Given the description of an element on the screen output the (x, y) to click on. 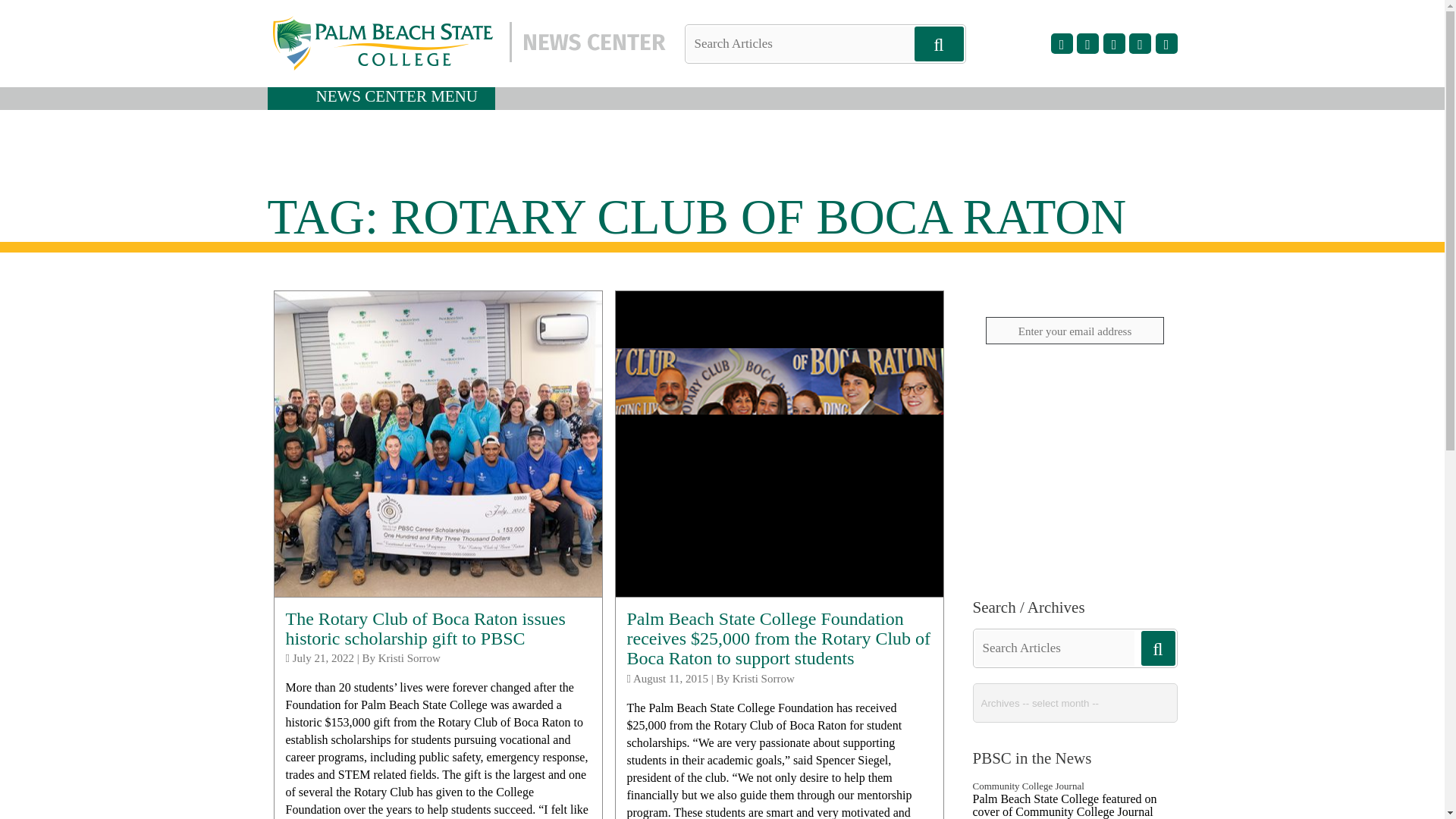
SUBMIT YOUR NEWS (1074, 541)
Subscribe (1074, 368)
Search (38, 11)
Posts by Kristi Sorrow (763, 678)
Kristi Sorrow (763, 678)
Posts by Kristi Sorrow (409, 657)
Subscribe (1074, 368)
Kristi Sorrow (409, 657)
